Given the description of an element on the screen output the (x, y) to click on. 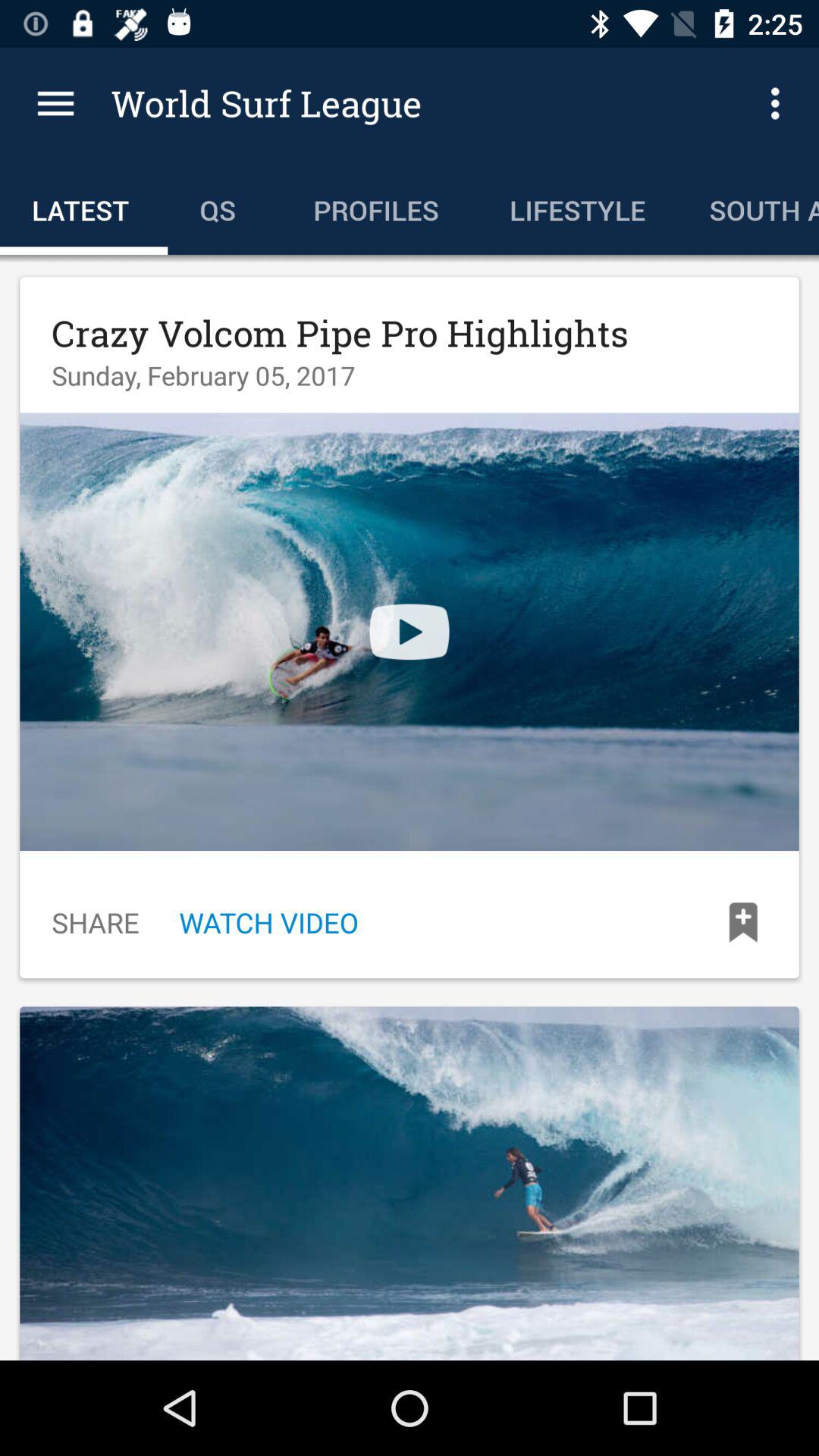
choose icon to the right of the lifestyle item (779, 103)
